Given the description of an element on the screen output the (x, y) to click on. 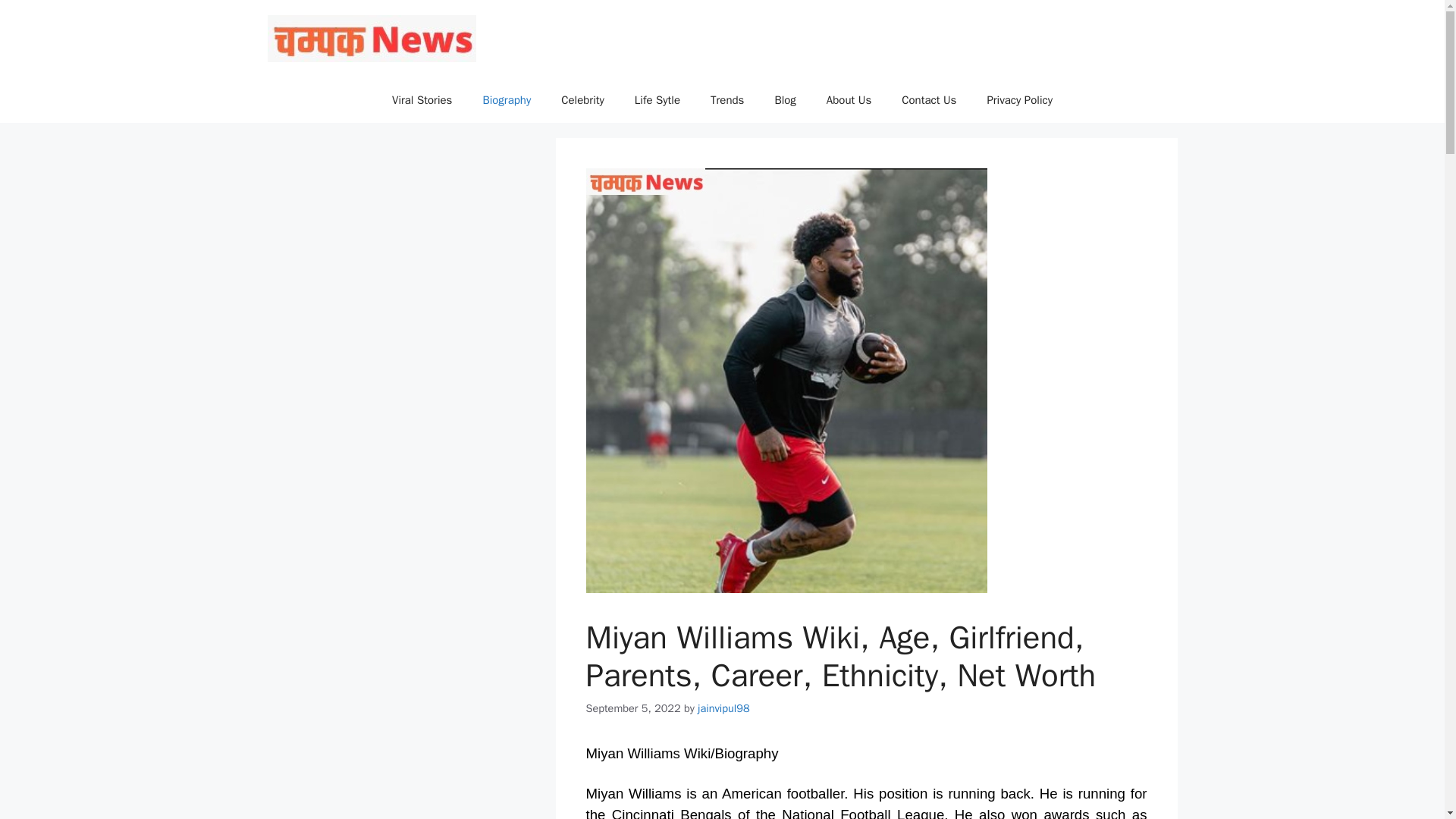
Contact Us (928, 99)
About Us (848, 99)
Viral Stories (422, 99)
Life Sytle (657, 99)
View all posts by jainvipul98 (723, 707)
Blog (784, 99)
Trends (726, 99)
Privacy Policy (1019, 99)
Celebrity (583, 99)
jainvipul98 (723, 707)
